Given the description of an element on the screen output the (x, y) to click on. 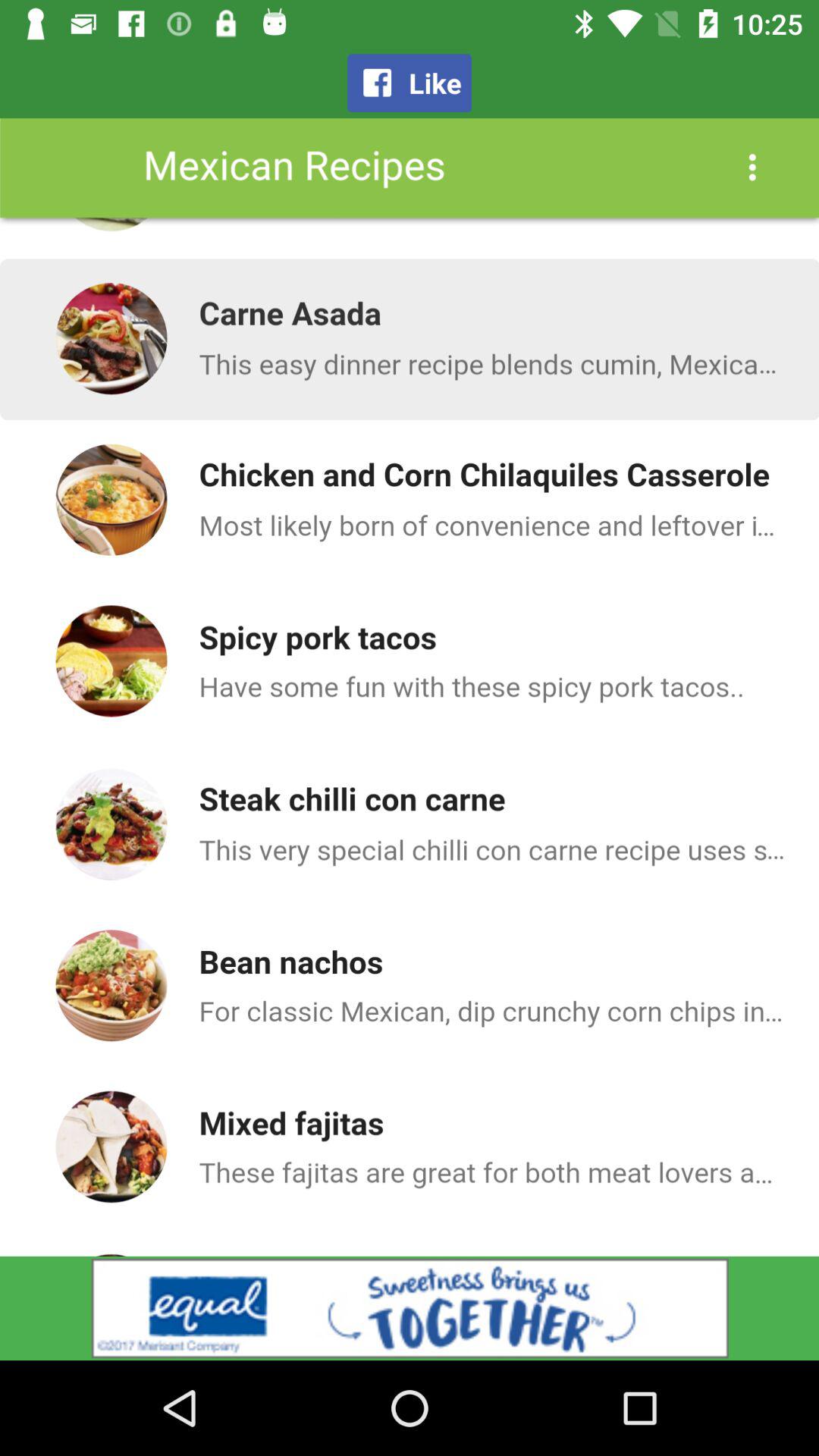
get more information (409, 1308)
